Given the description of an element on the screen output the (x, y) to click on. 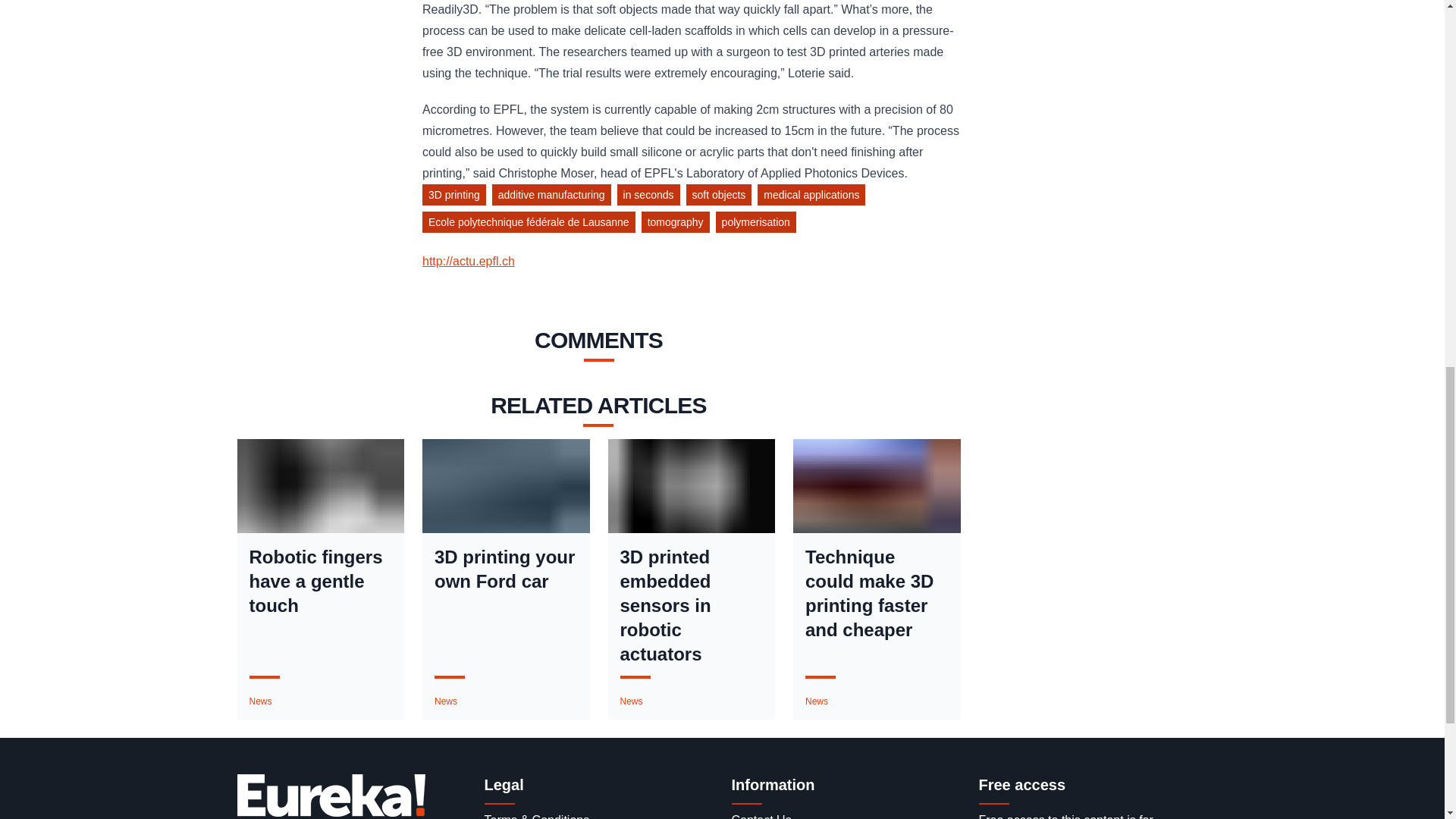
3D printing your own Ford car (505, 569)
additive manufacturing (554, 197)
soft objects (721, 197)
medical applications (813, 197)
in seconds (651, 197)
News (259, 701)
News (445, 701)
polymerisation (759, 225)
tomography (679, 225)
Robotic fingers have a gentle touch (319, 581)
